Given the description of an element on the screen output the (x, y) to click on. 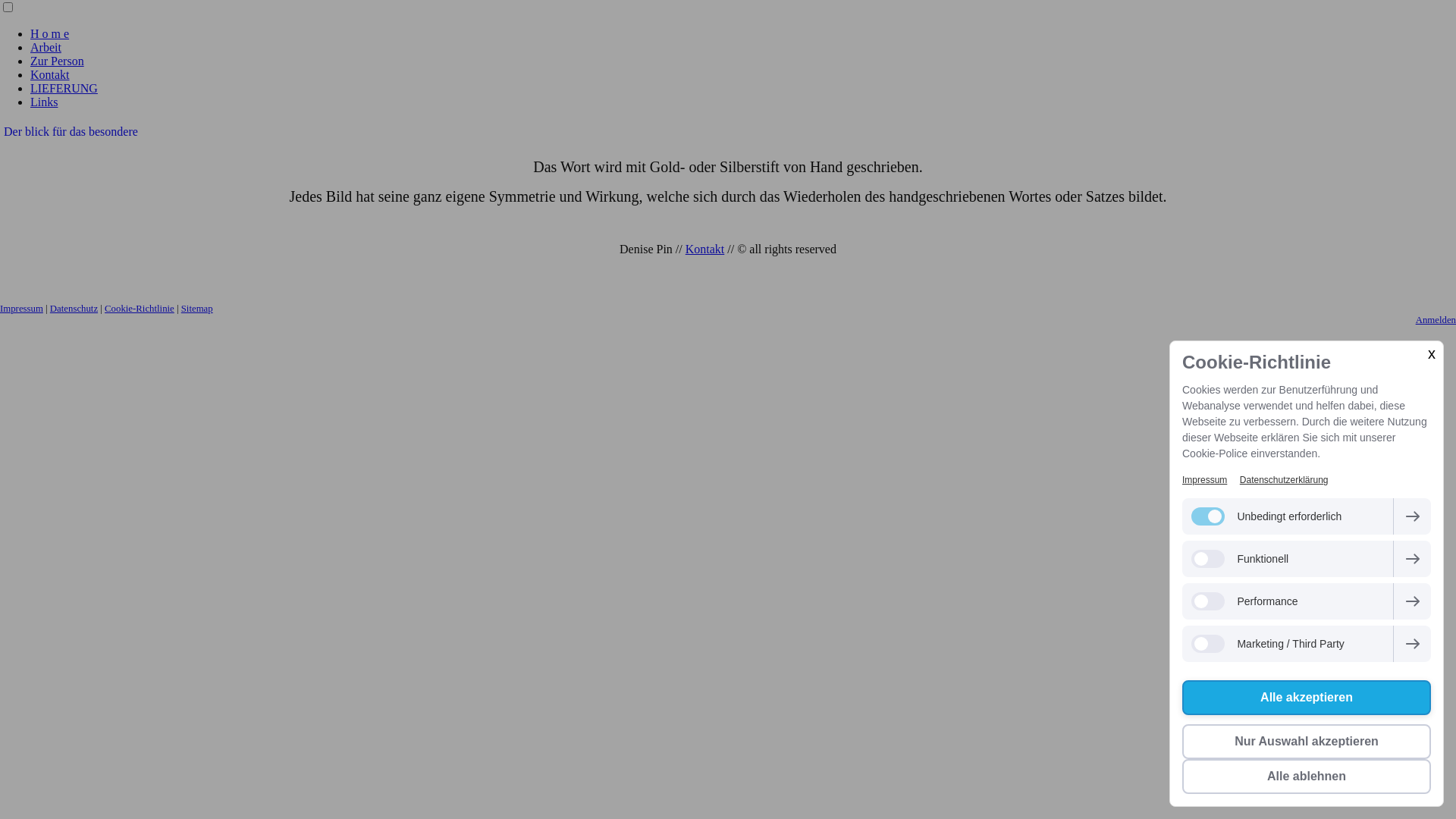
Impressum Element type: text (21, 308)
Kontakt Element type: text (704, 248)
Alle akzeptieren Element type: text (1306, 697)
Links Element type: text (43, 101)
Nur Auswahl akzeptieren Element type: text (1306, 741)
Impressum Element type: text (1204, 479)
LIEFERUNG Element type: text (63, 87)
Alle ablehnen Element type: text (1306, 776)
Sitemap Element type: text (197, 308)
Datenschutz Element type: text (73, 308)
Cookie-Richtlinie Element type: text (139, 308)
Kontakt Element type: text (49, 74)
H o m e Element type: text (49, 33)
Zur Person Element type: text (57, 60)
Arbeit Element type: text (45, 46)
